Given the description of an element on the screen output the (x, y) to click on. 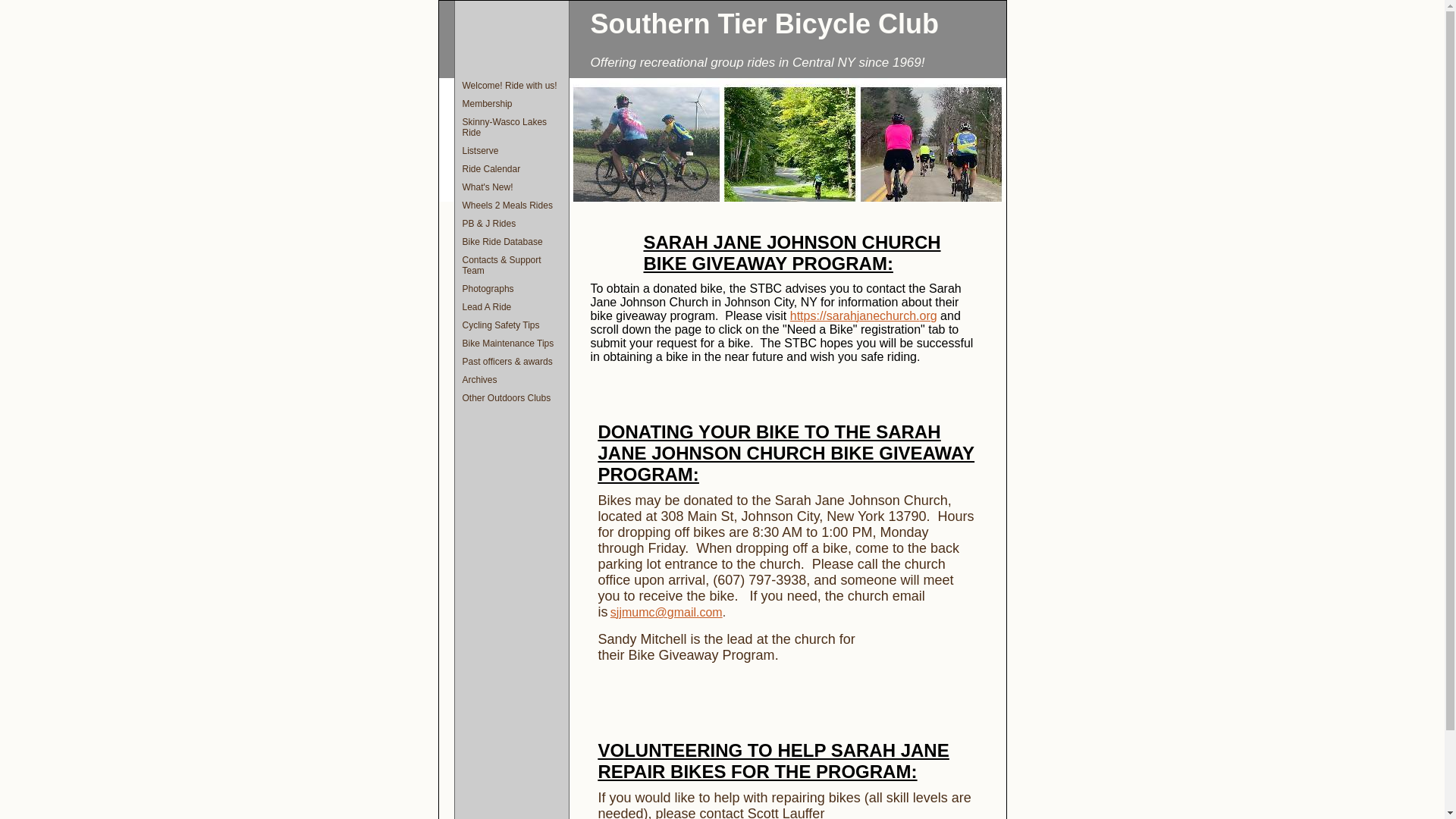
Cycling Safety Tips (511, 325)
What's New! (511, 187)
Photographs (511, 289)
Skinny-Wasco Lakes Ride (511, 127)
Welcome! Ride with us! (511, 85)
Ride Calendar (511, 168)
Bike Maintenance Tips (511, 343)
Other Outdoors Clubs (511, 398)
Lead A Ride (511, 307)
Archives (511, 380)
Membership (511, 104)
Wheels 2 Meals Rides (511, 205)
Bike Ride Database (511, 241)
Listserve (511, 150)
